Given the description of an element on the screen output the (x, y) to click on. 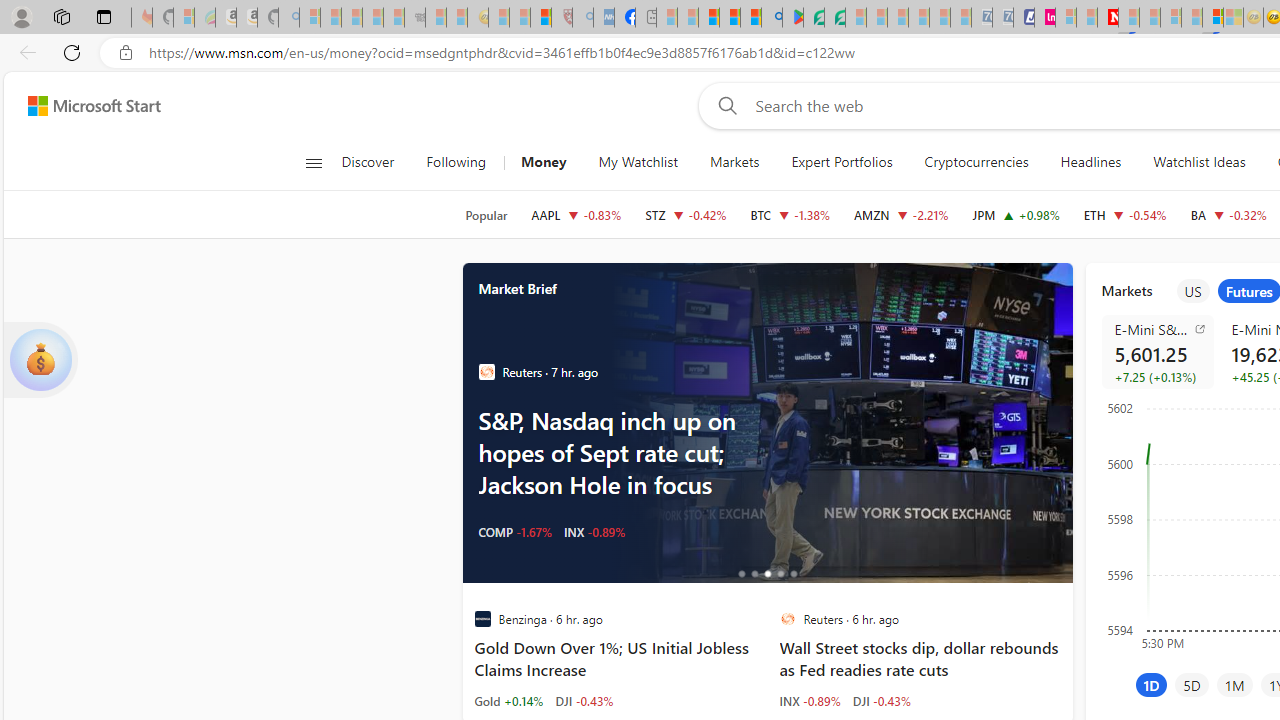
Headlines (1090, 162)
AMZN AMAZON.COM, INC. decrease 176.13 -3.98 -2.21% (901, 214)
item1 (1192, 291)
5D (1192, 684)
Jobs - lastminute.com Investor Portal (1044, 17)
Expert Portfolios (842, 162)
Traders work on the floor of the NYSE in New York (838, 422)
Cryptocurrencies (975, 162)
Markets (734, 162)
